Given the description of an element on the screen output the (x, y) to click on. 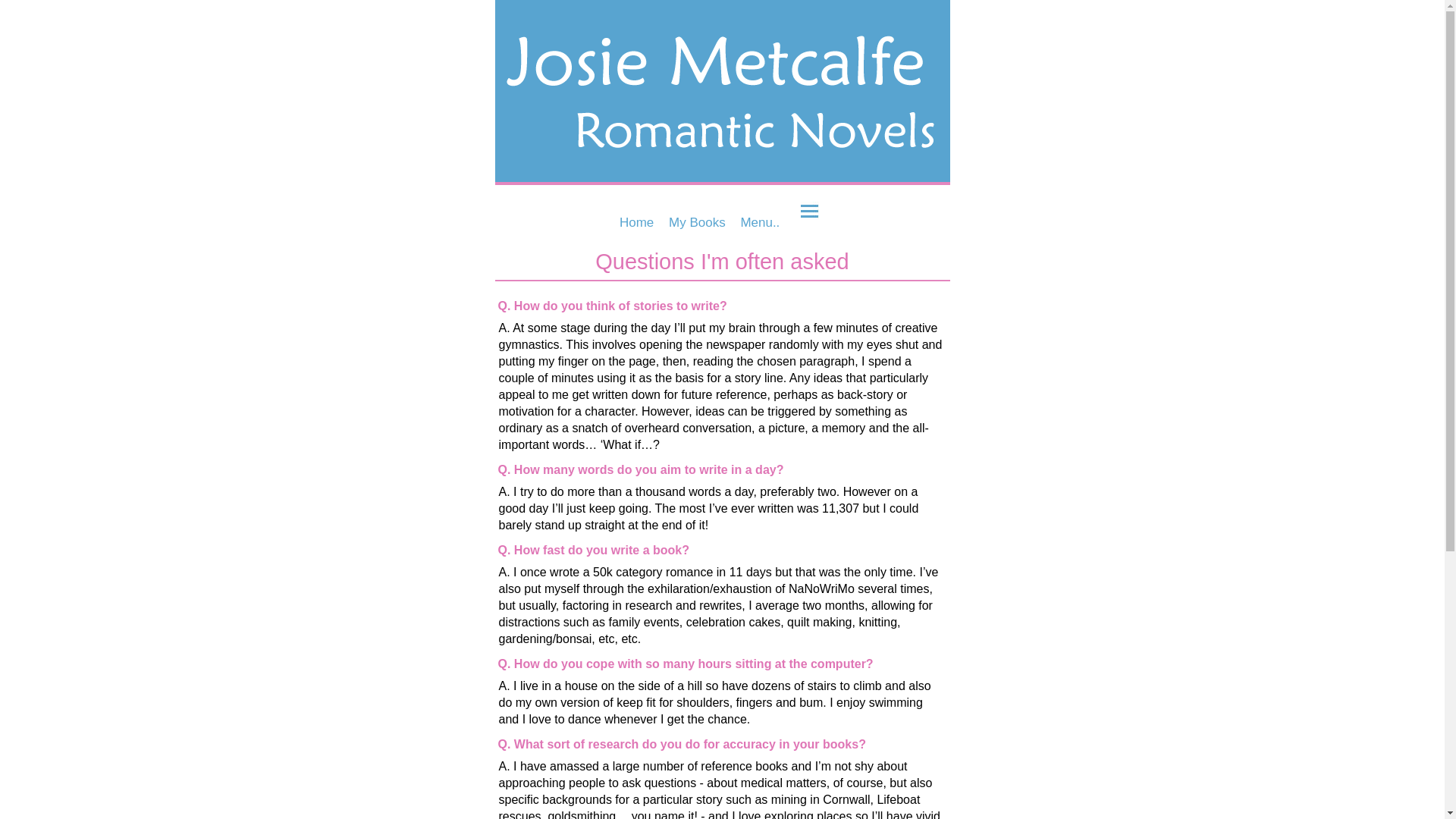
Home (635, 221)
Menu.. (760, 221)
My Books (696, 221)
